Given the description of an element on the screen output the (x, y) to click on. 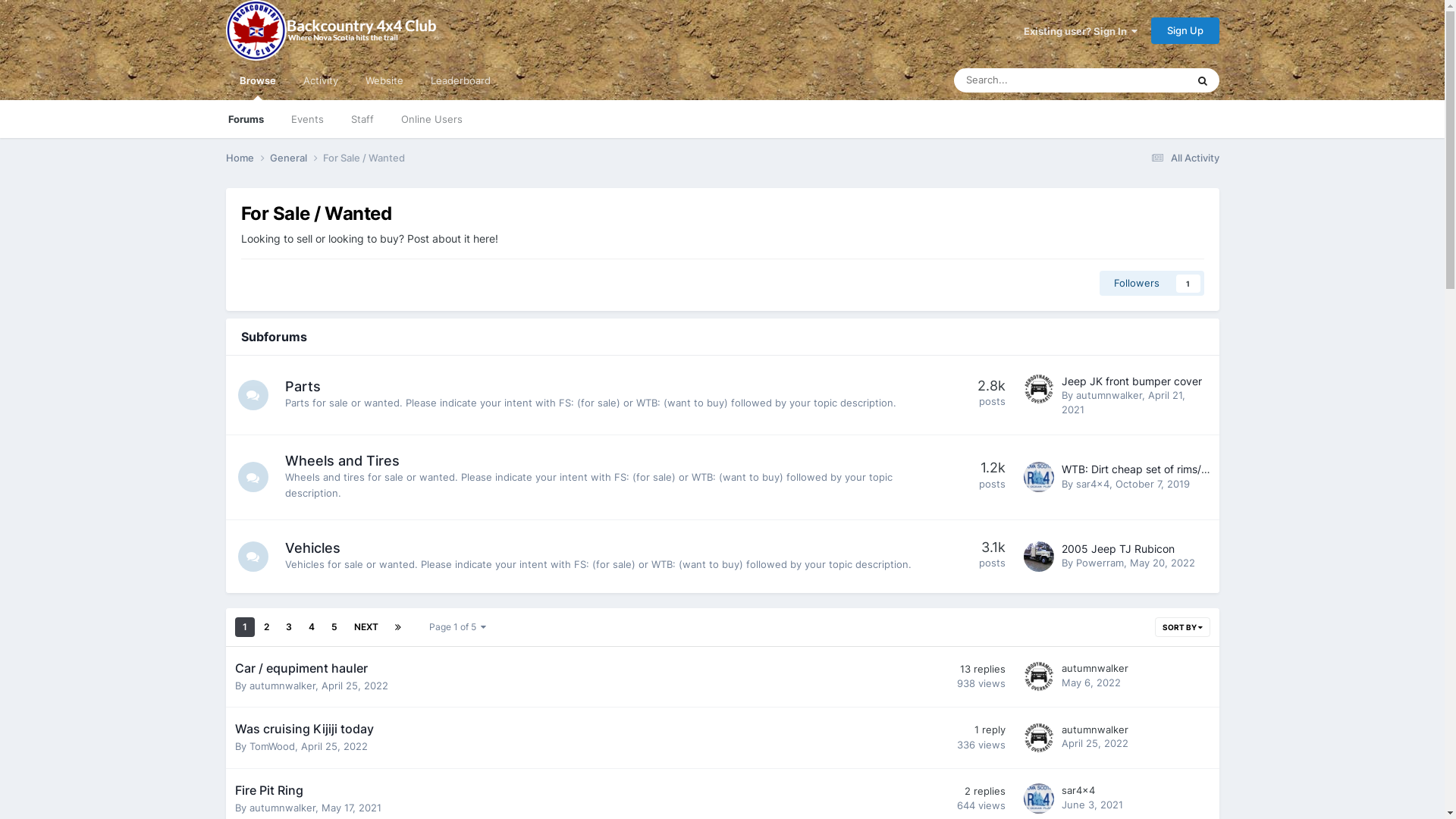
autumnwalker Element type: text (1094, 668)
Leaderboard Element type: text (460, 80)
autumnwalker Element type: text (1108, 395)
Browse Element type: text (257, 80)
May 6, 2022 Element type: text (1090, 682)
TomWood Element type: text (271, 746)
WTB: Dirt cheap set of rims/tires (5x4.5) Element type: text (1162, 468)
October 7, 2019 Element type: text (1151, 483)
Followers
1 Element type: text (1151, 282)
NEXT Element type: text (365, 627)
Go to autumnwalker's profile Element type: hover (1038, 737)
Wheels and Tires Element type: text (342, 460)
2 Element type: text (266, 627)
Last page Element type: hover (396, 627)
Go to autumnwalker's profile Element type: hover (1038, 676)
Go to sar4x4's profile Element type: hover (1038, 476)
autumnwalker Element type: text (281, 685)
SORT BY Element type: text (1181, 627)
5 Element type: text (333, 627)
3 Element type: text (287, 627)
Powerram Element type: text (1099, 562)
sar4x4 Element type: text (1091, 483)
General Element type: text (296, 158)
April 25, 2022 Element type: text (1094, 743)
Vehicles Element type: text (312, 547)
Activity Element type: text (320, 80)
Page 1 of 5   Element type: text (457, 627)
Parts Element type: text (302, 386)
Go to sar4x4's profile Element type: hover (1038, 798)
All Activity Element type: text (1182, 157)
June 3, 2021 Element type: text (1092, 804)
Sign Up Element type: text (1185, 29)
Was cruising Kijiji today Element type: text (304, 728)
Forums Element type: text (244, 119)
1 Element type: text (244, 627)
Go to Powerram's profile Element type: hover (1038, 556)
May 20, 2022 Element type: text (1162, 562)
Go to autumnwalker's profile Element type: hover (1038, 388)
Jeep JK front bumper cover Element type: text (1131, 380)
April 21, 2021 Element type: text (1123, 401)
autumnwalker Element type: text (281, 807)
Car / equpiment hauler Element type: text (301, 667)
sar4x4 Element type: text (1078, 790)
Website Element type: text (384, 80)
Staff Element type: text (361, 119)
4 Element type: text (310, 627)
Online Users Element type: text (430, 119)
Home Element type: text (247, 158)
Existing user? Sign In   Element type: text (1080, 31)
Events Element type: text (307, 119)
2005 Jeep TJ Rubicon Element type: text (1117, 548)
Fire Pit Ring Element type: text (269, 789)
autumnwalker Element type: text (1094, 729)
